Given the description of an element on the screen output the (x, y) to click on. 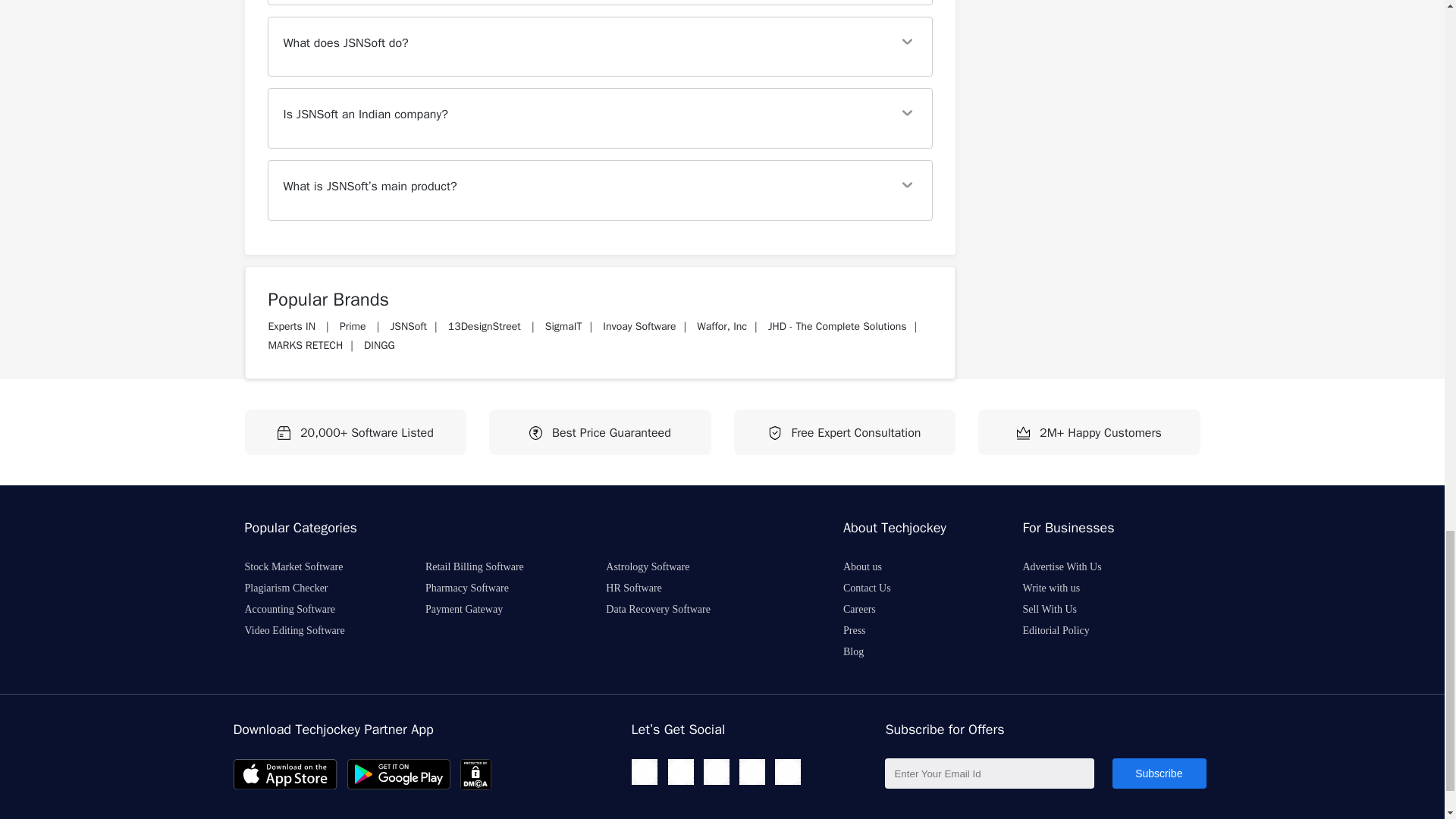
Invoay Software (638, 326)
Video Editing Software (309, 630)
Pharmacy Software (481, 587)
MARKS RETECH (305, 345)
JHD - The Complete Solutions (837, 326)
Payment Gateway (478, 608)
Astrology Software (662, 566)
Retail Billing Software (489, 566)
appstorelogo (284, 774)
About us (877, 566)
